Given the description of an element on the screen output the (x, y) to click on. 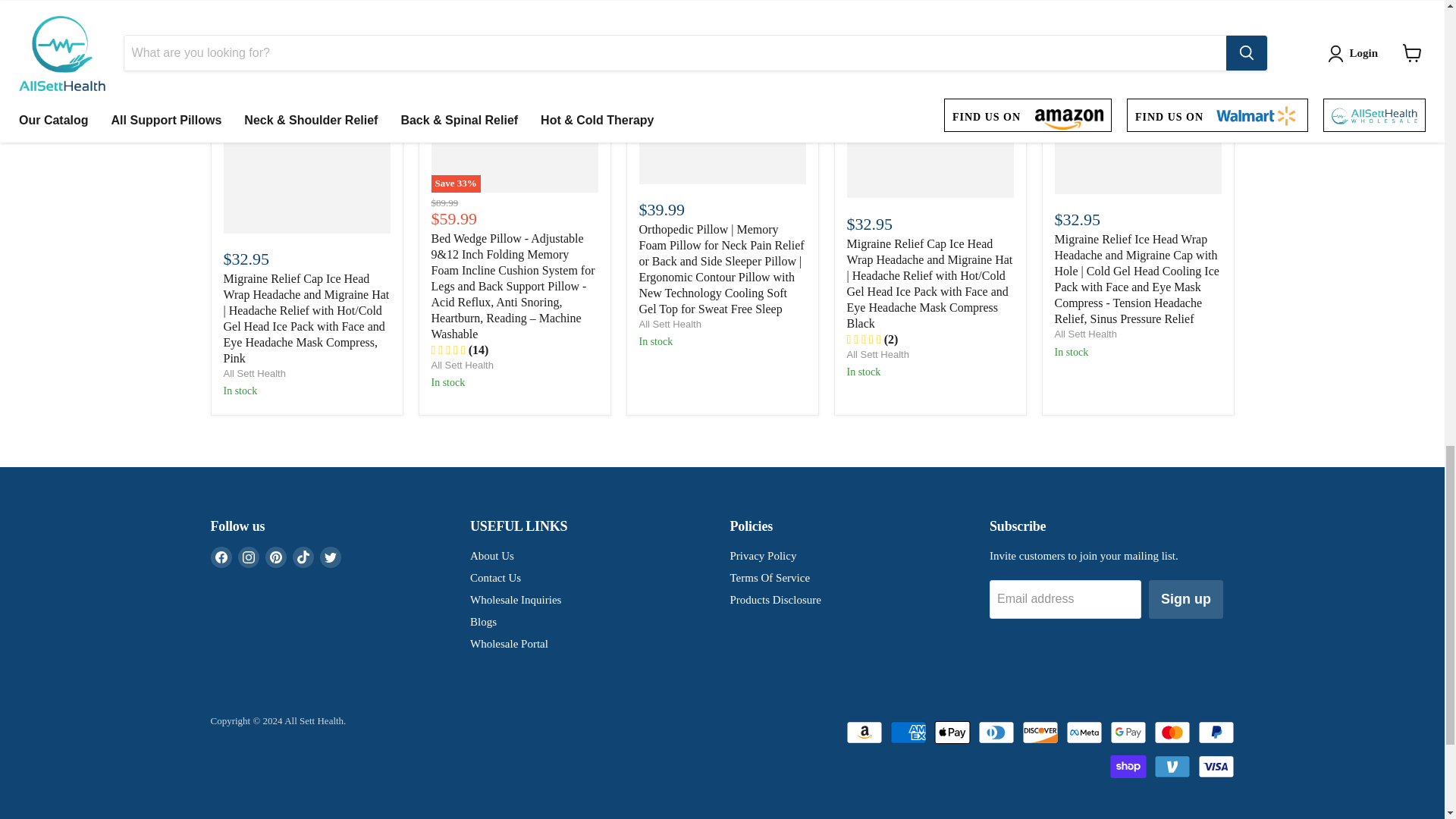
Pinterest (275, 557)
Amazon (863, 732)
TikTok (303, 557)
Instagram (248, 557)
All Sett Health (253, 373)
All Sett Health (669, 324)
Twitter (330, 557)
All Sett Health (461, 365)
All Sett Health (876, 354)
All Sett Health (1085, 333)
American Express (907, 732)
Facebook (221, 557)
